Given the description of an element on the screen output the (x, y) to click on. 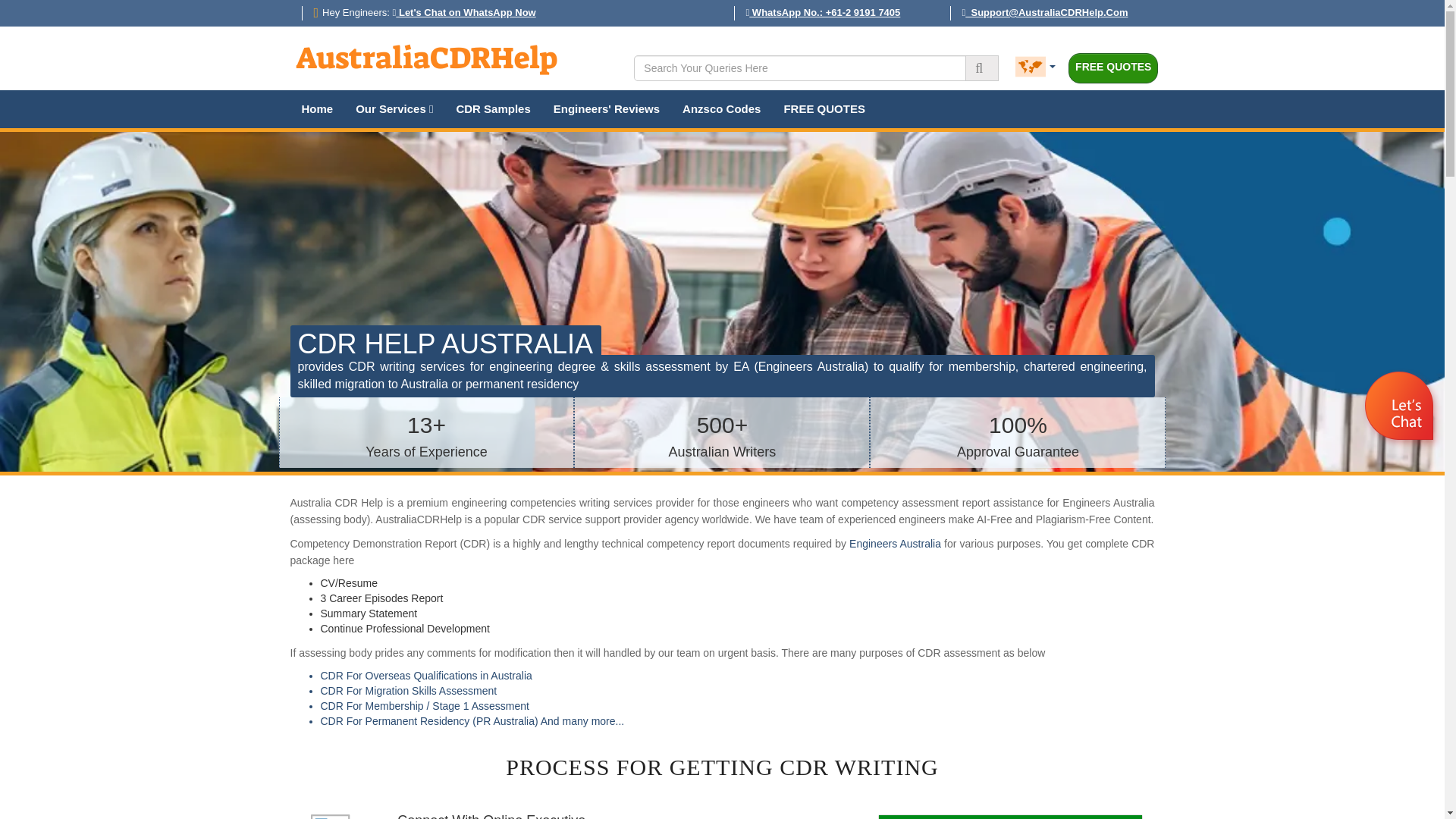
FREE QUOTES (823, 108)
CDR Samples (492, 108)
CDR For Migration Skills Assessment (737, 691)
Engineers Australia (894, 543)
Home (316, 108)
 Let's Chat on WhatsApp Now (464, 12)
CDR For Overseas Qualifications in Australia (737, 676)
Anzsco Codes (721, 108)
FREE QUOTES (1112, 68)
Engineers' Reviews (606, 108)
Our Services (393, 108)
